Given the description of an element on the screen output the (x, y) to click on. 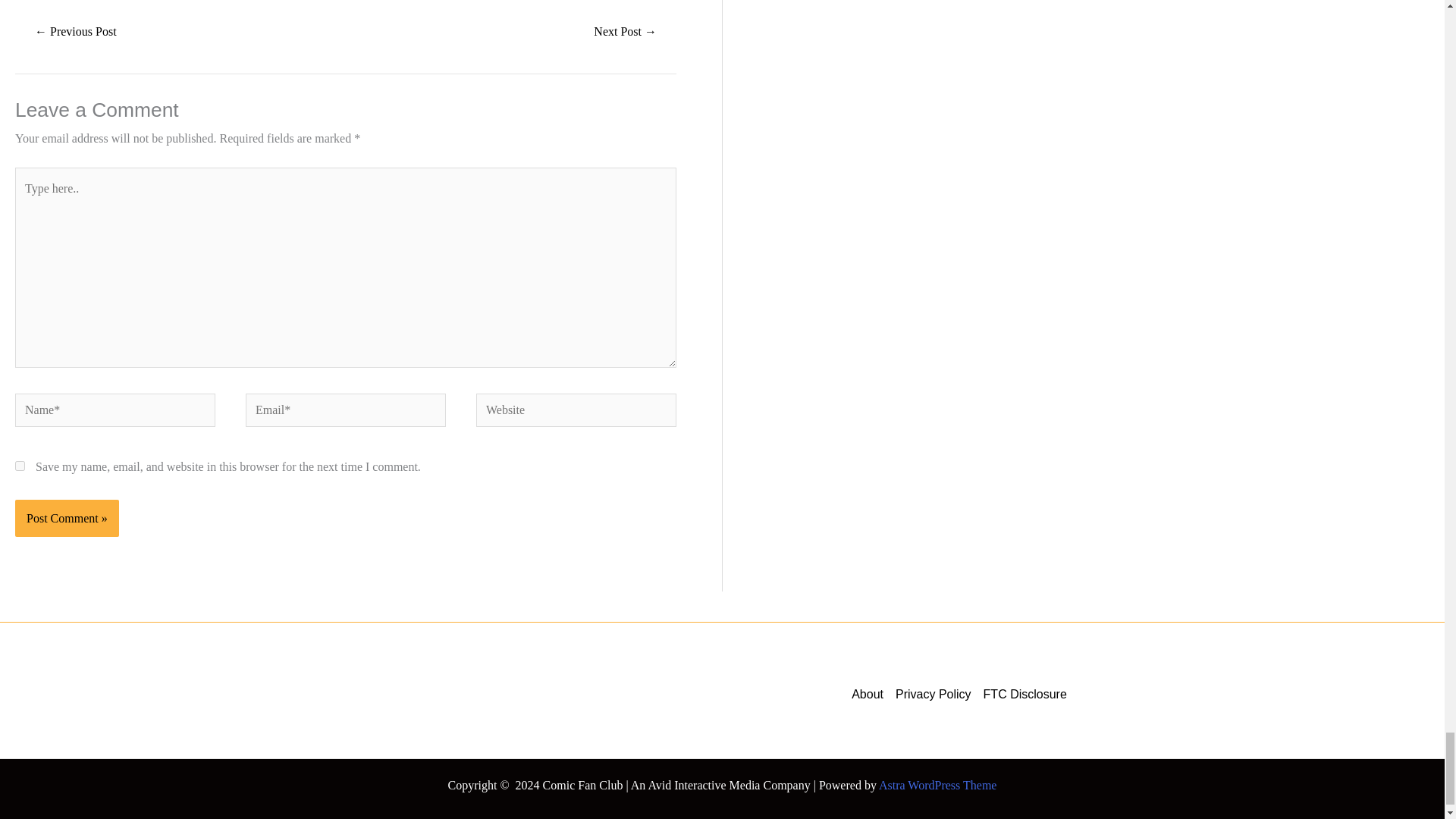
The Best Wonder Woman Pajamas (625, 32)
yes (19, 465)
